Given the description of an element on the screen output the (x, y) to click on. 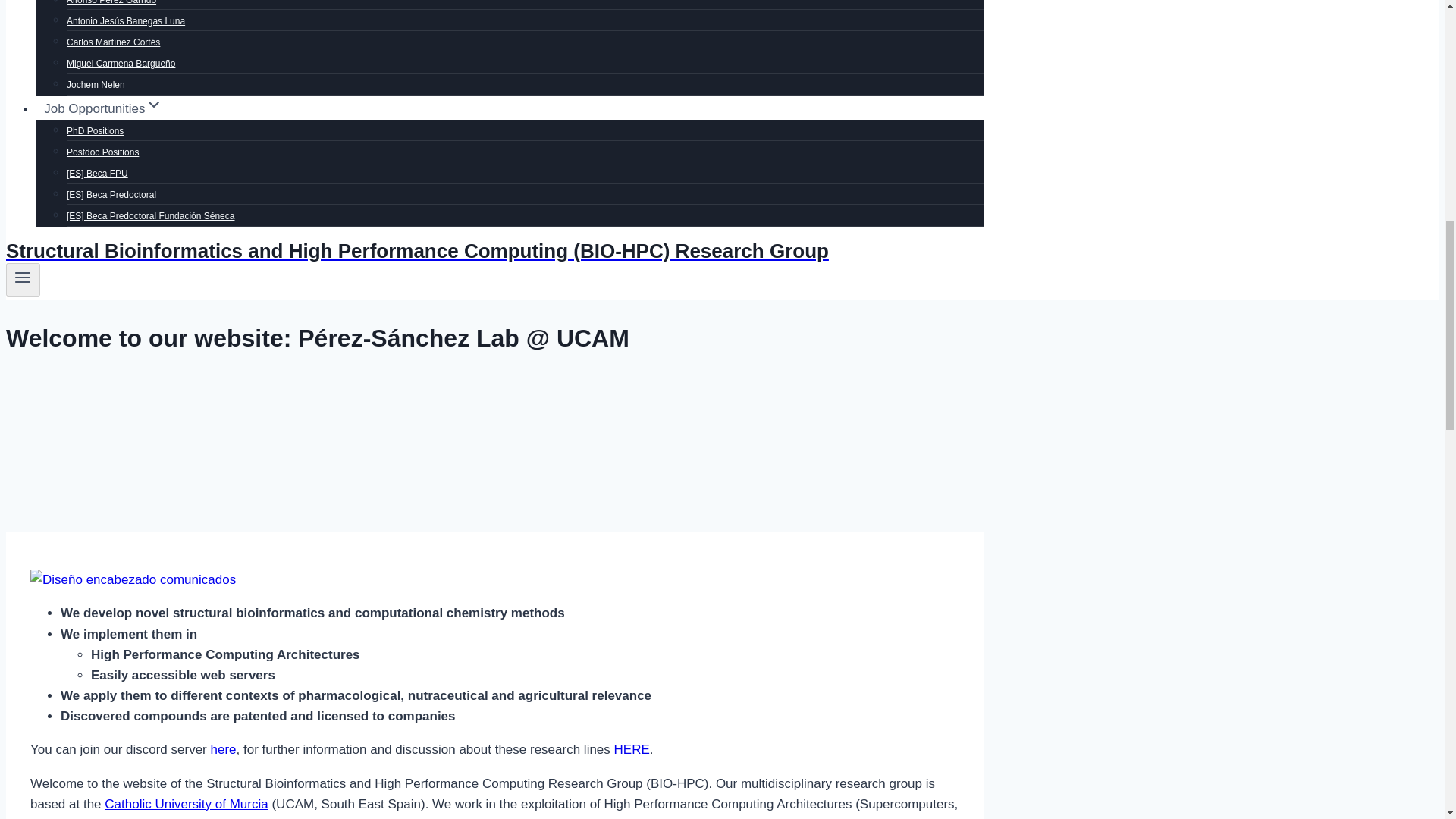
Expand (153, 104)
Jochem Nelen (95, 84)
Toggle Menu (22, 277)
